Given the description of an element on the screen output the (x, y) to click on. 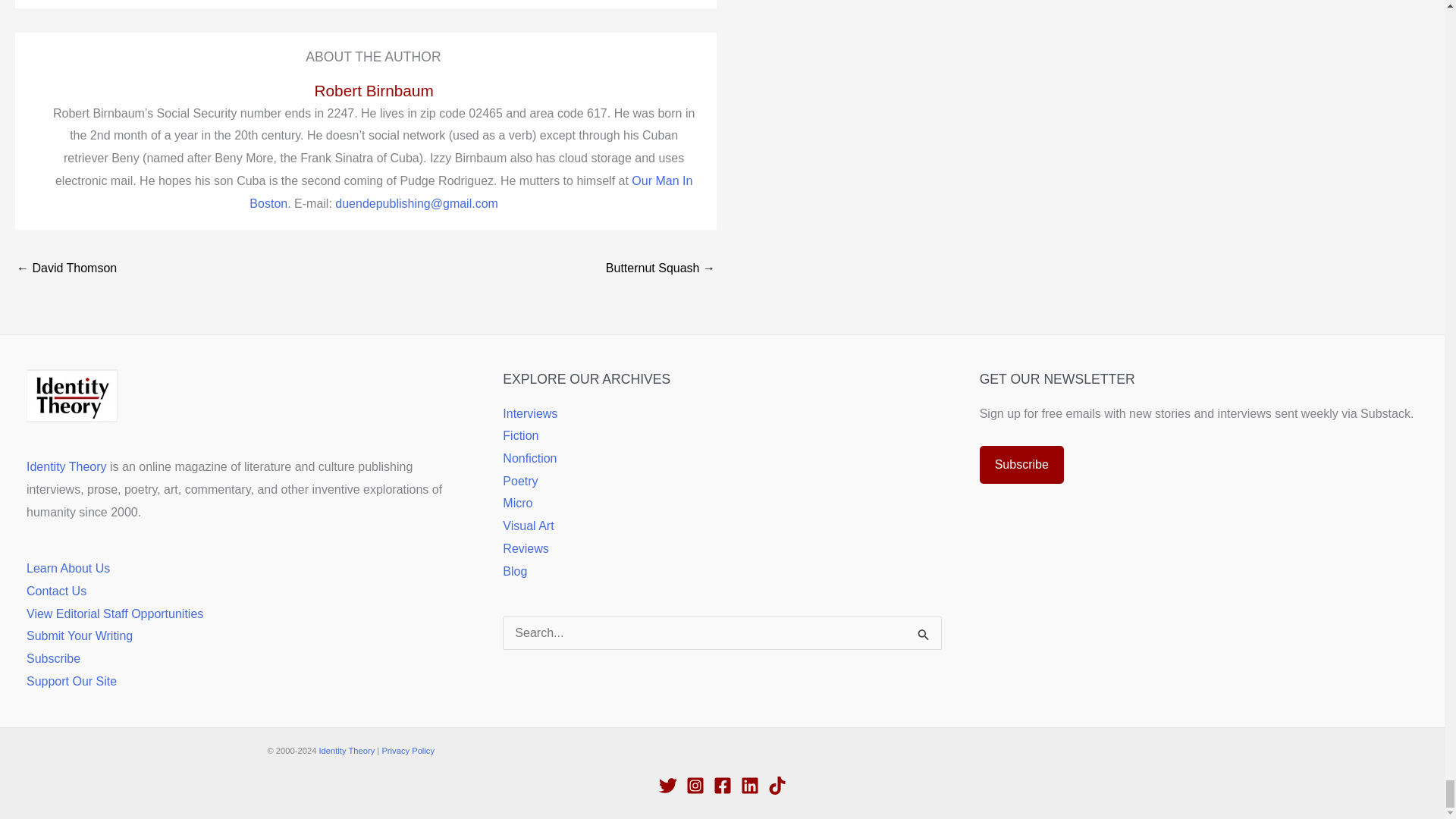
Butternut Squash (659, 269)
David Thomson (66, 269)
